Given the description of an element on the screen output the (x, y) to click on. 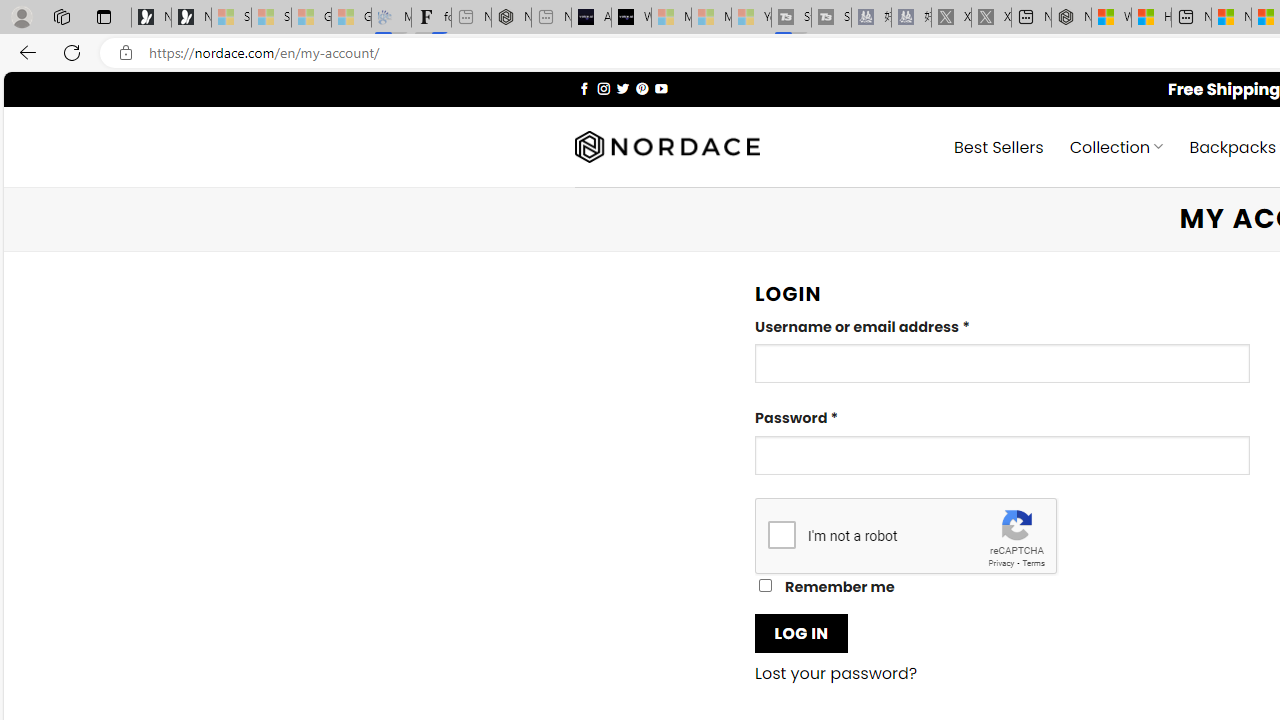
Lost your password? (836, 673)
Streaming Coverage | T3 - Sleeping (791, 17)
Nordace - #1 Japanese Best-Seller - Siena Smart Backpack (511, 17)
Microsoft Start Sports - Sleeping (671, 17)
  Best Sellers (998, 146)
Follow on YouTube (661, 88)
AI Voice Changer for PC and Mac - Voice.ai (591, 17)
Privacy (1001, 562)
LOG IN (801, 632)
Nordace - My Account (1071, 17)
I'm not a robot (782, 533)
View site information (125, 53)
